Given the description of an element on the screen output the (x, y) to click on. 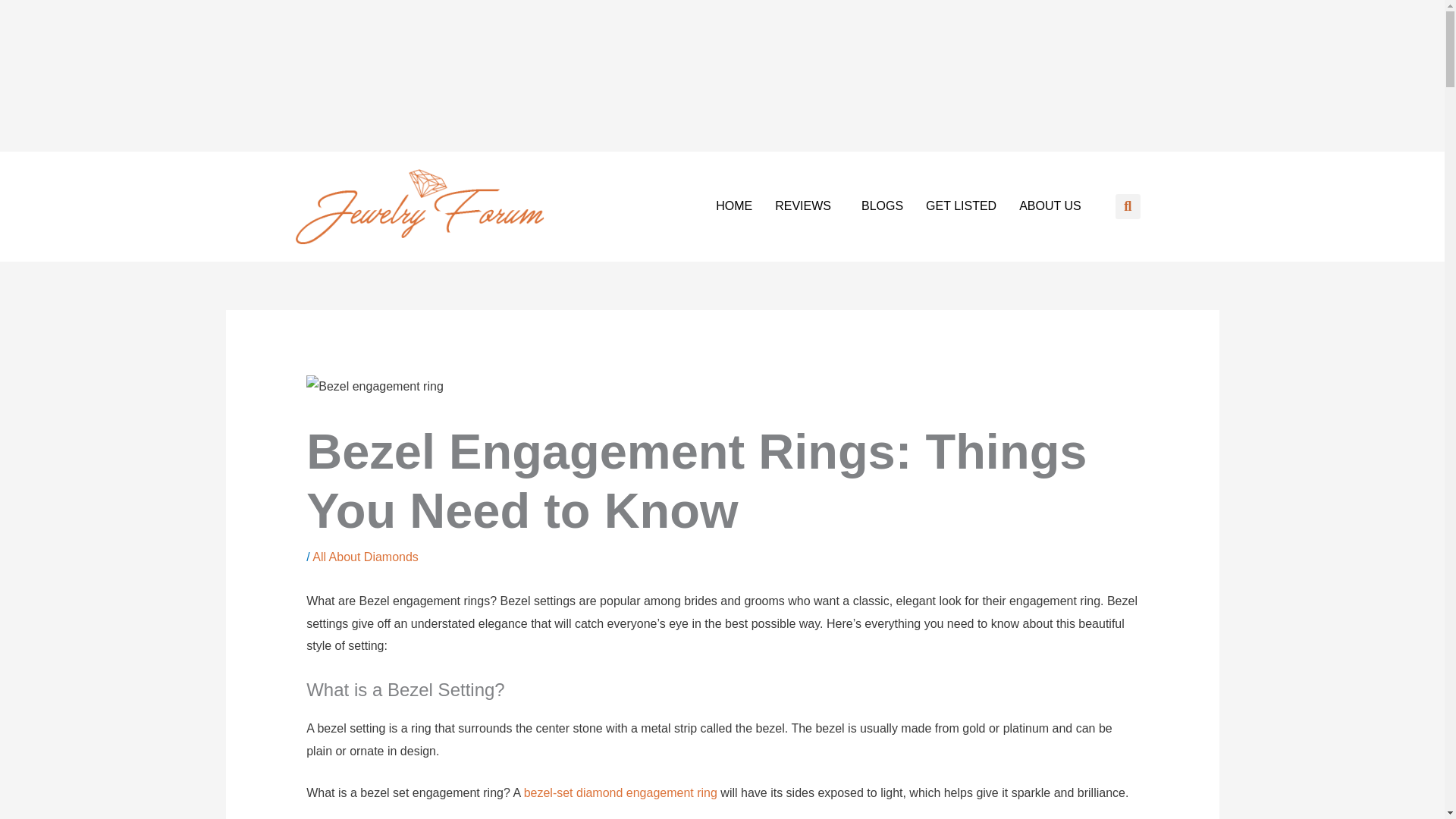
HOME (733, 206)
BLOGS (882, 206)
All About Diamonds (366, 556)
ABOUT US (1050, 206)
REVIEWS (806, 206)
GET LISTED (960, 206)
bezel-set diamond engagement ring (620, 792)
